Given the description of an element on the screen output the (x, y) to click on. 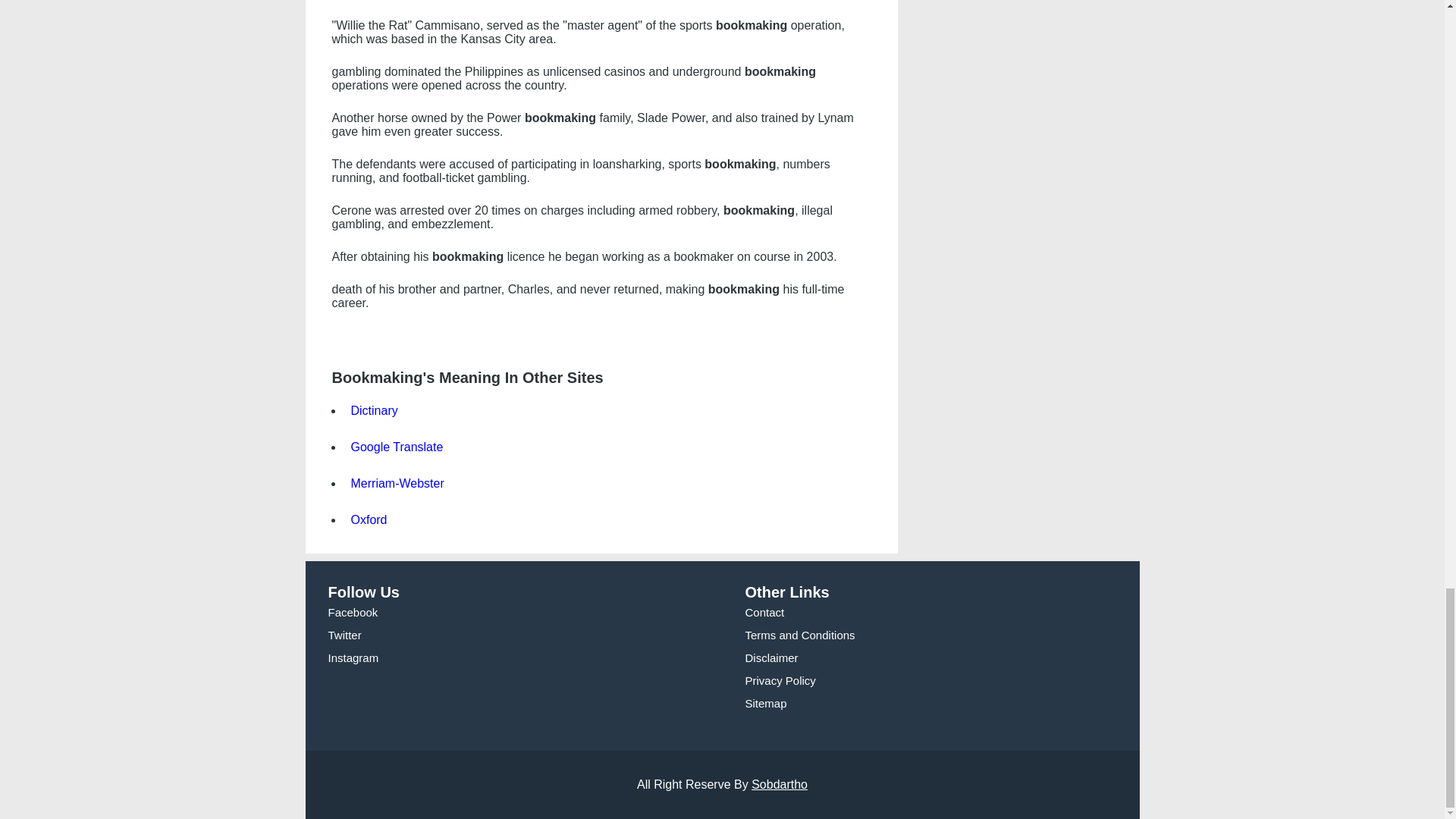
Twitter (344, 634)
Dictinary (369, 410)
Google Translate (392, 446)
Oxford (364, 519)
Facebook (352, 612)
Merriam-Webster (393, 482)
